Given the description of an element on the screen output the (x, y) to click on. 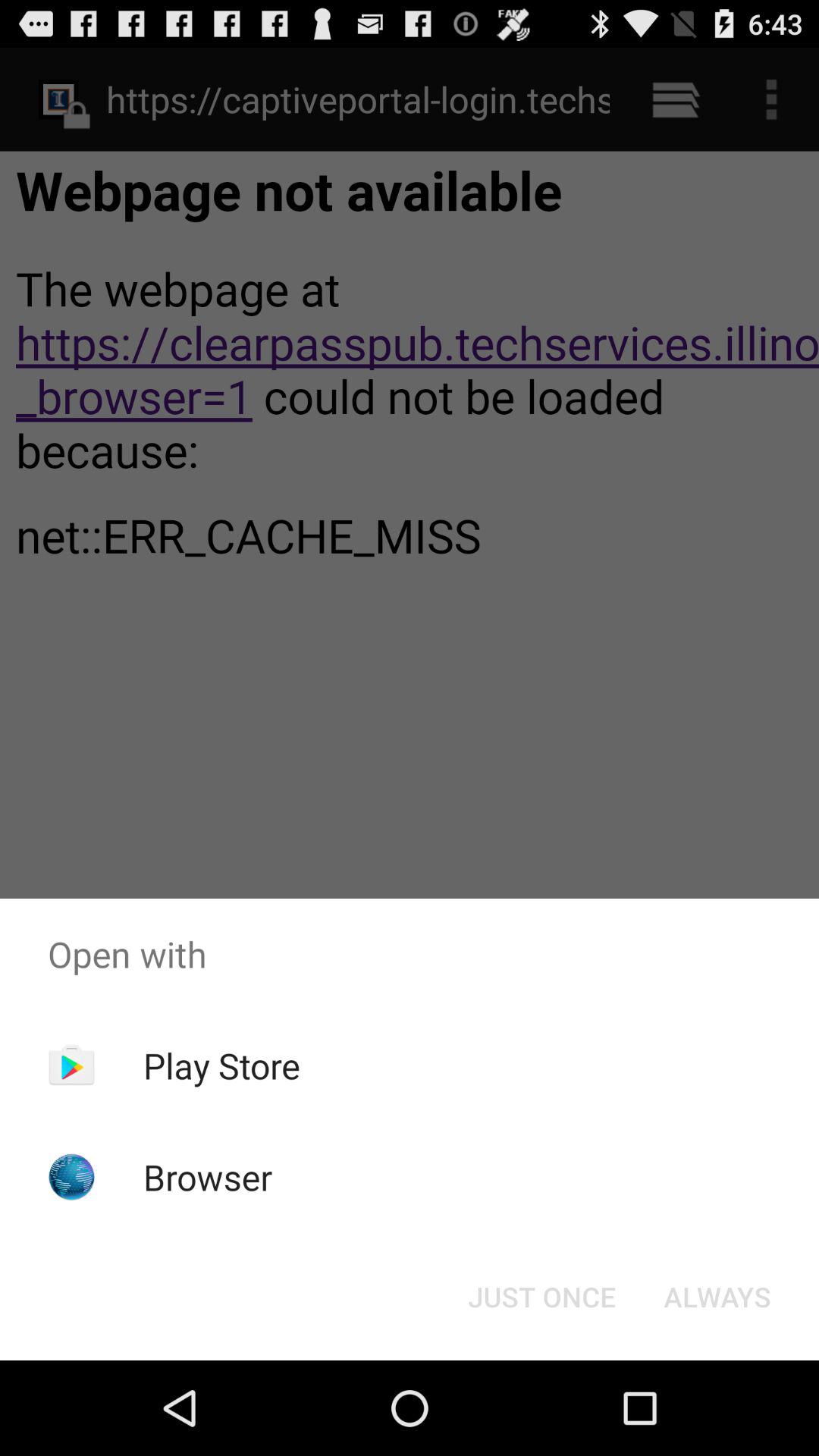
swipe to the play store app (221, 1065)
